Given the description of an element on the screen output the (x, y) to click on. 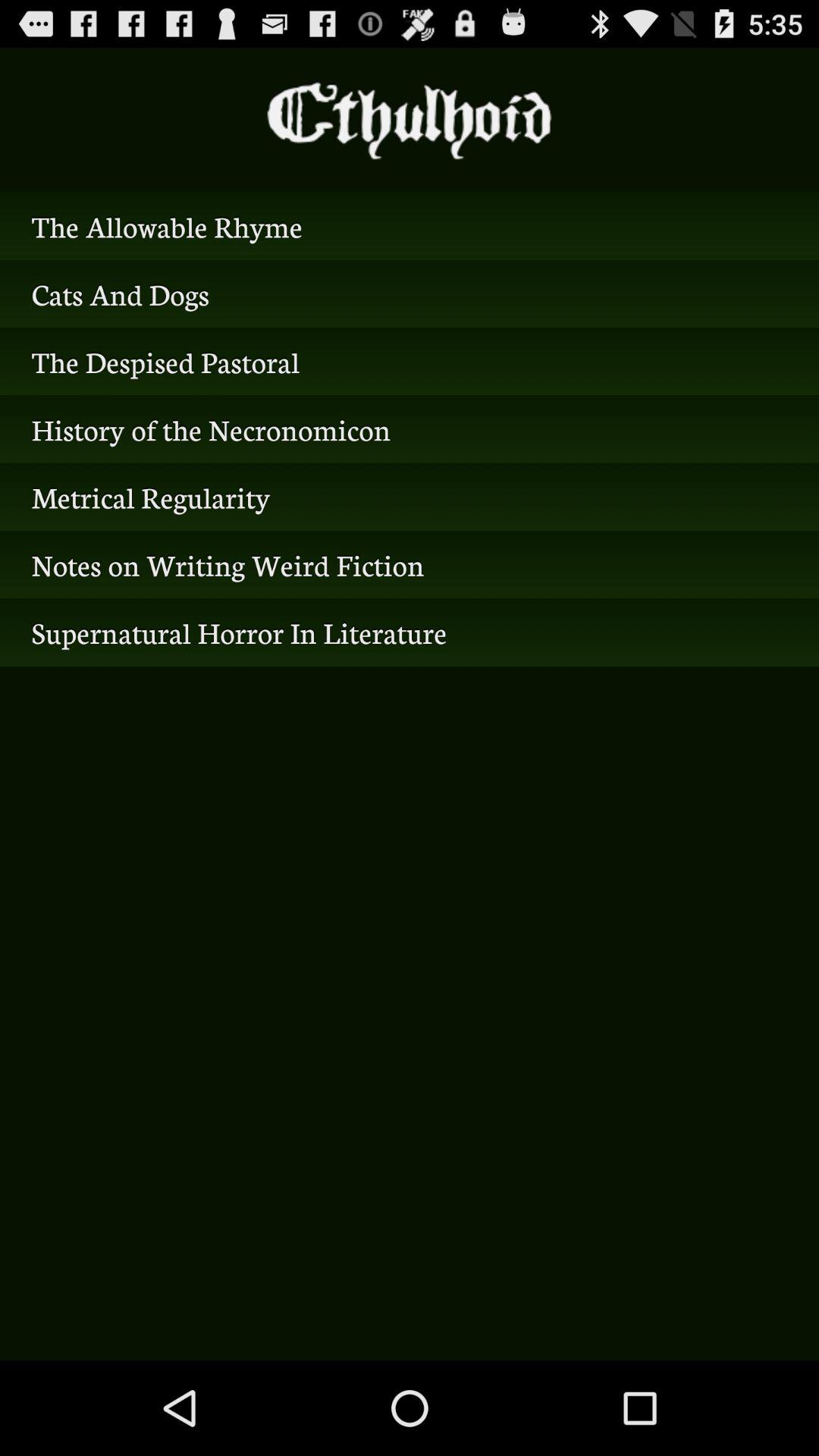
tap the allowable rhyme icon (409, 226)
